Given the description of an element on the screen output the (x, y) to click on. 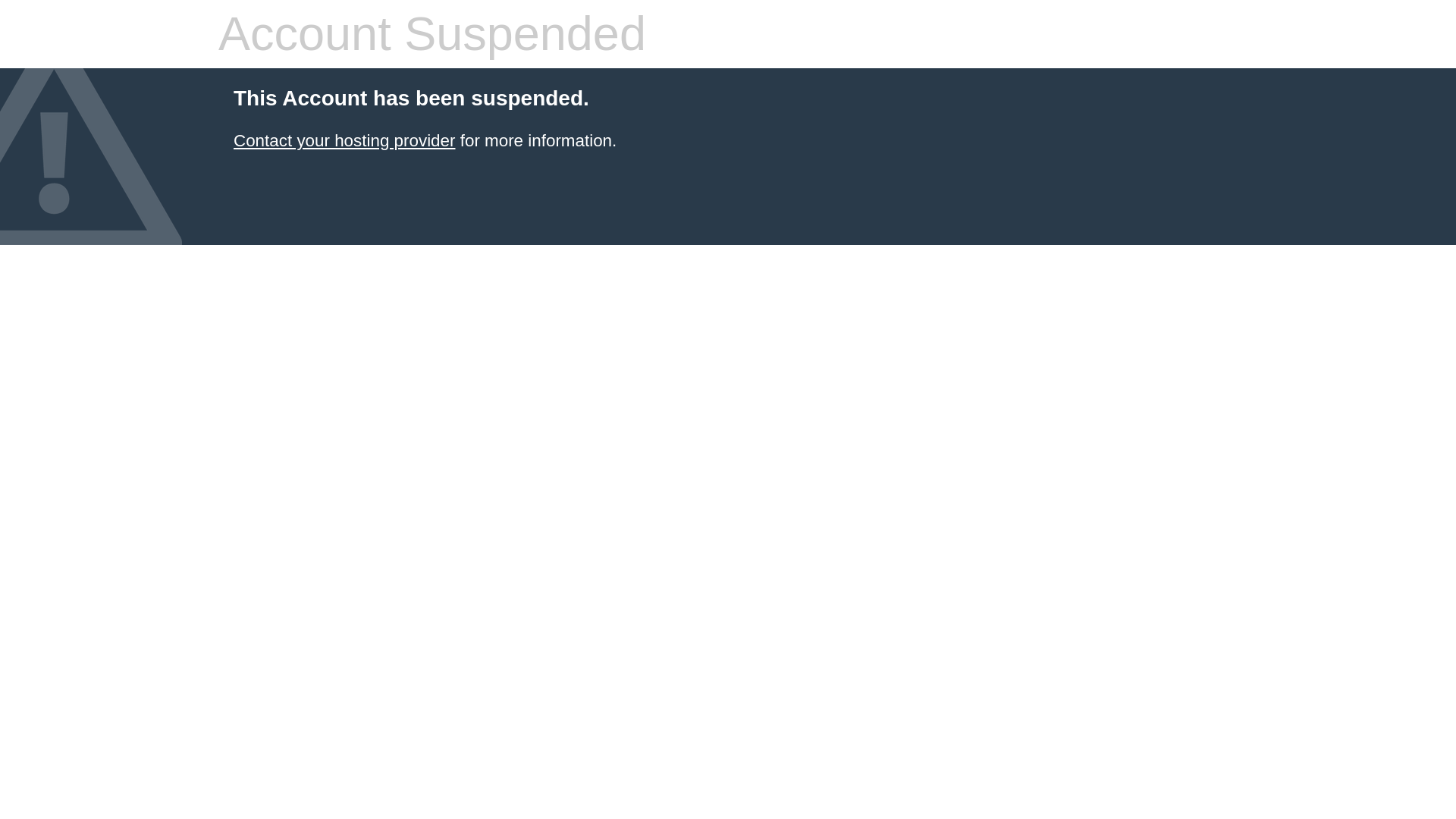
Contact your hosting provider (343, 140)
